Given the description of an element on the screen output the (x, y) to click on. 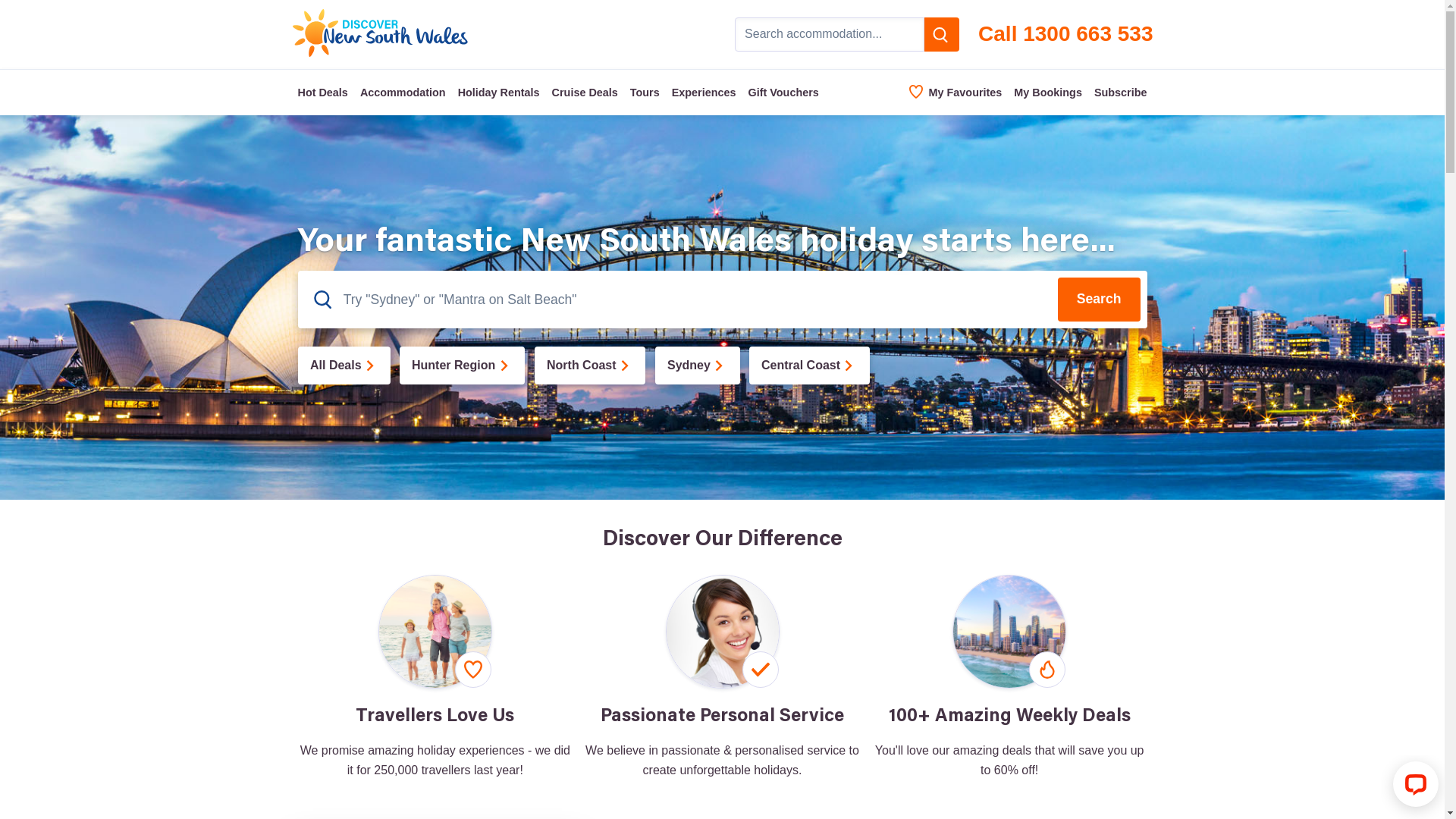
All Deals Element type: text (343, 365)
Tours Element type: text (644, 92)
Search Element type: text (1098, 299)
North Coast Element type: text (589, 365)
Experiences Element type: text (703, 92)
Holiday Rentals Element type: text (498, 92)
Gift Vouchers Element type: text (782, 92)
Central Coast Element type: text (809, 365)
Hunter Region Element type: text (461, 365)
My Bookings Element type: text (1047, 92)
Cruise Deals Element type: text (585, 92)
Call 1300 663 533 Element type: text (1065, 34)
Subscribe Element type: text (1120, 92)
Accommodation Element type: text (402, 92)
Hot Deals Element type: text (322, 92)
My Favourites Element type: text (955, 92)
Sydney Element type: text (697, 365)
